Given the description of an element on the screen output the (x, y) to click on. 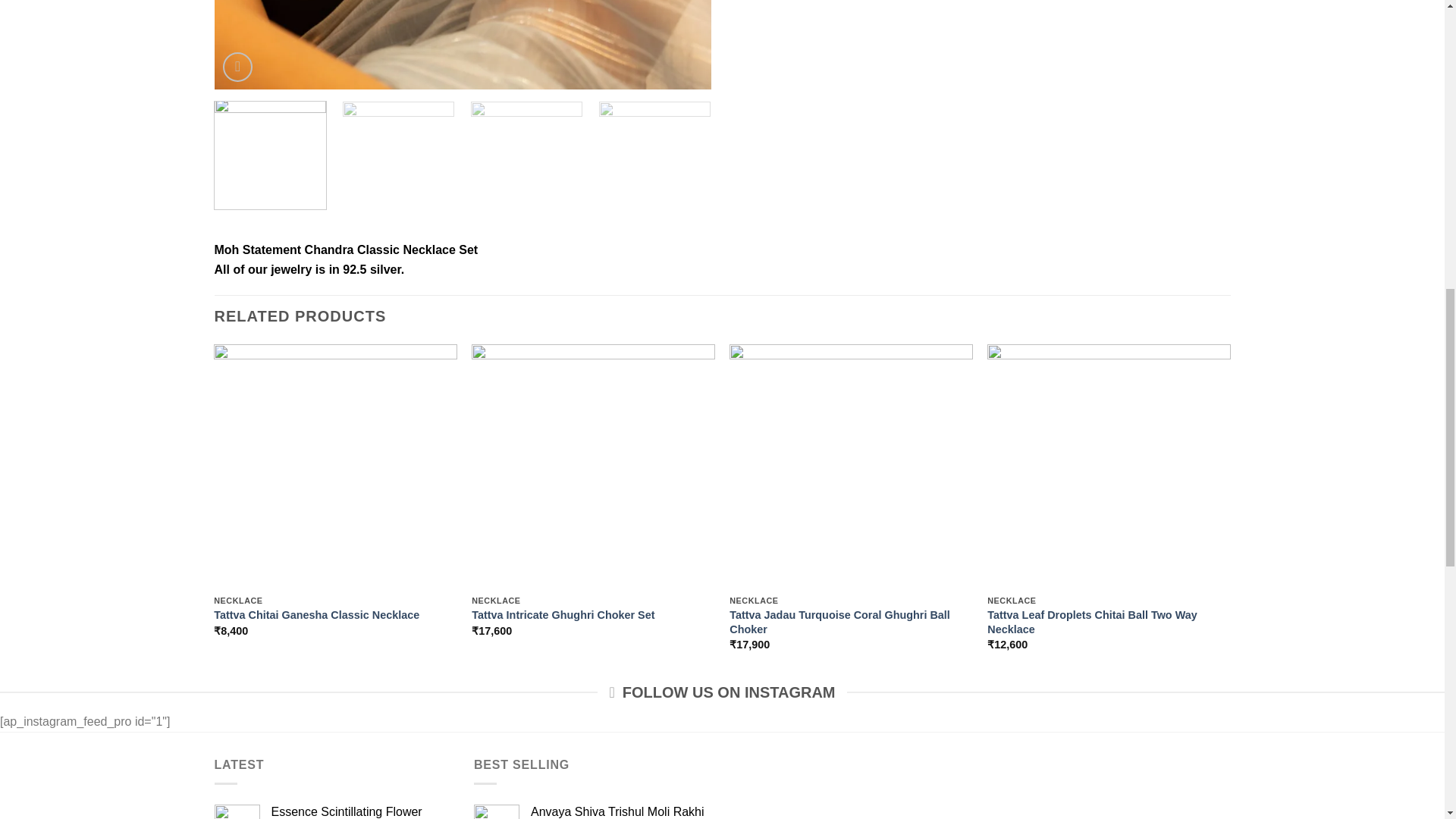
moh statement chandra classic necklace set1 (462, 44)
Zoom (236, 66)
moh statement chandra classic necklace set3 (959, 44)
